Given the description of an element on the screen output the (x, y) to click on. 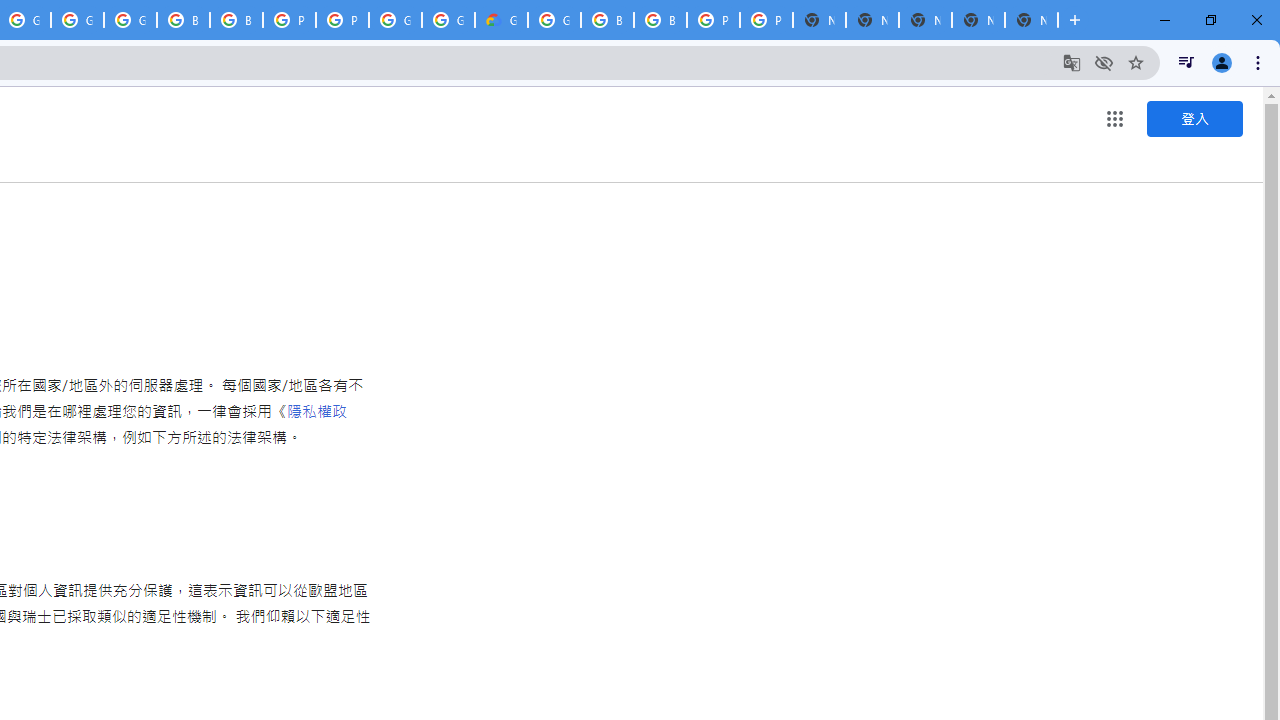
Browse Chrome as a guest - Computer - Google Chrome Help (607, 20)
Google Cloud Estimate Summary (501, 20)
Translate this page (1071, 62)
Browse Chrome as a guest - Computer - Google Chrome Help (183, 20)
Google Cloud Platform (554, 20)
